Given the description of an element on the screen output the (x, y) to click on. 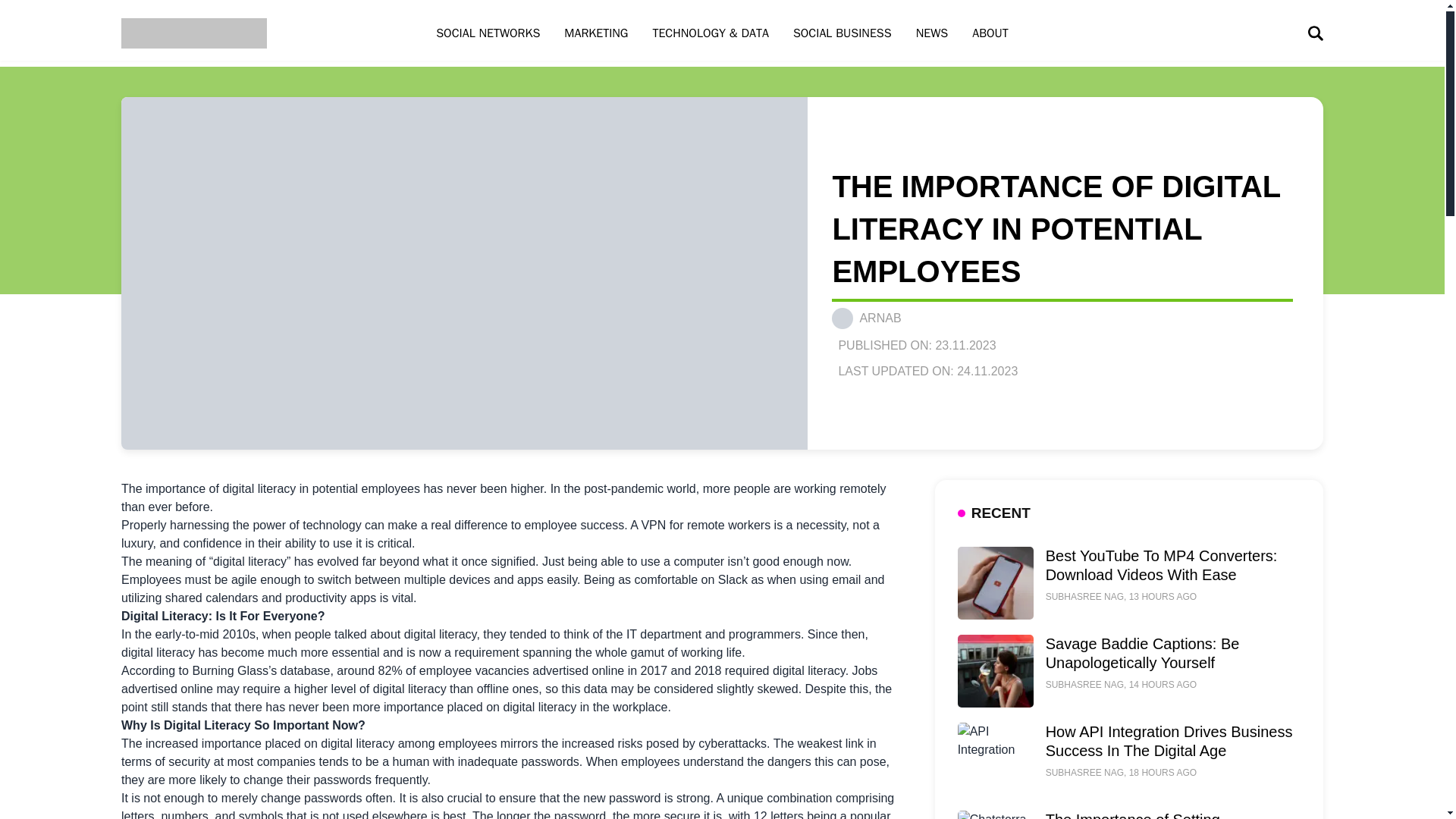
Posts by Subhasree Nag (1084, 684)
SOCIAL NETWORKS (487, 33)
Posts by Subhasree Nag (1084, 596)
ABOUT (989, 33)
Posts by Arnab (880, 318)
Posts by Subhasree Nag (1084, 772)
SOCIAL BUSINESS (842, 33)
MARKETING (595, 33)
NEWS (932, 33)
